Given the description of an element on the screen output the (x, y) to click on. 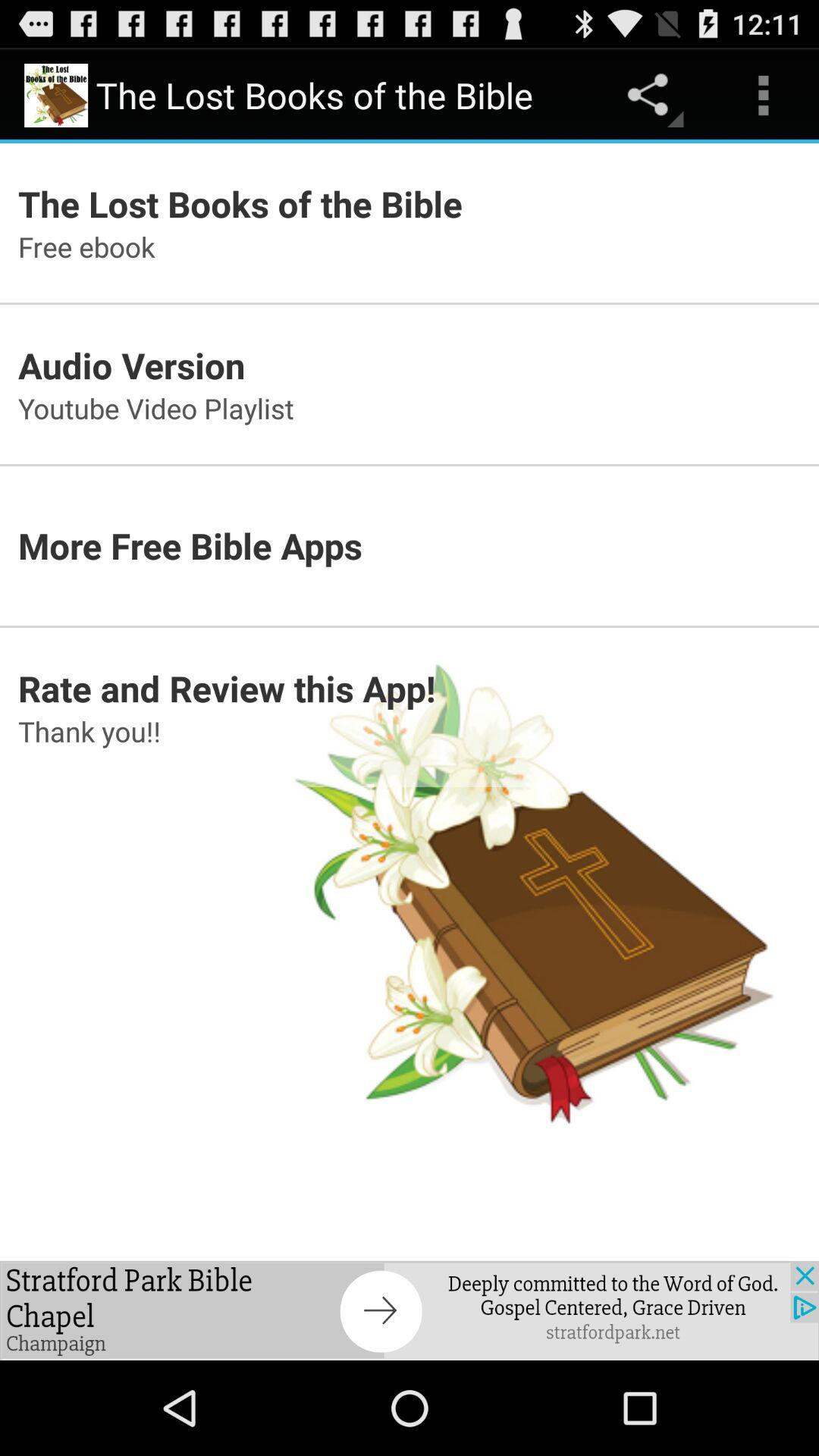
advertisement (409, 1310)
